Given the description of an element on the screen output the (x, y) to click on. 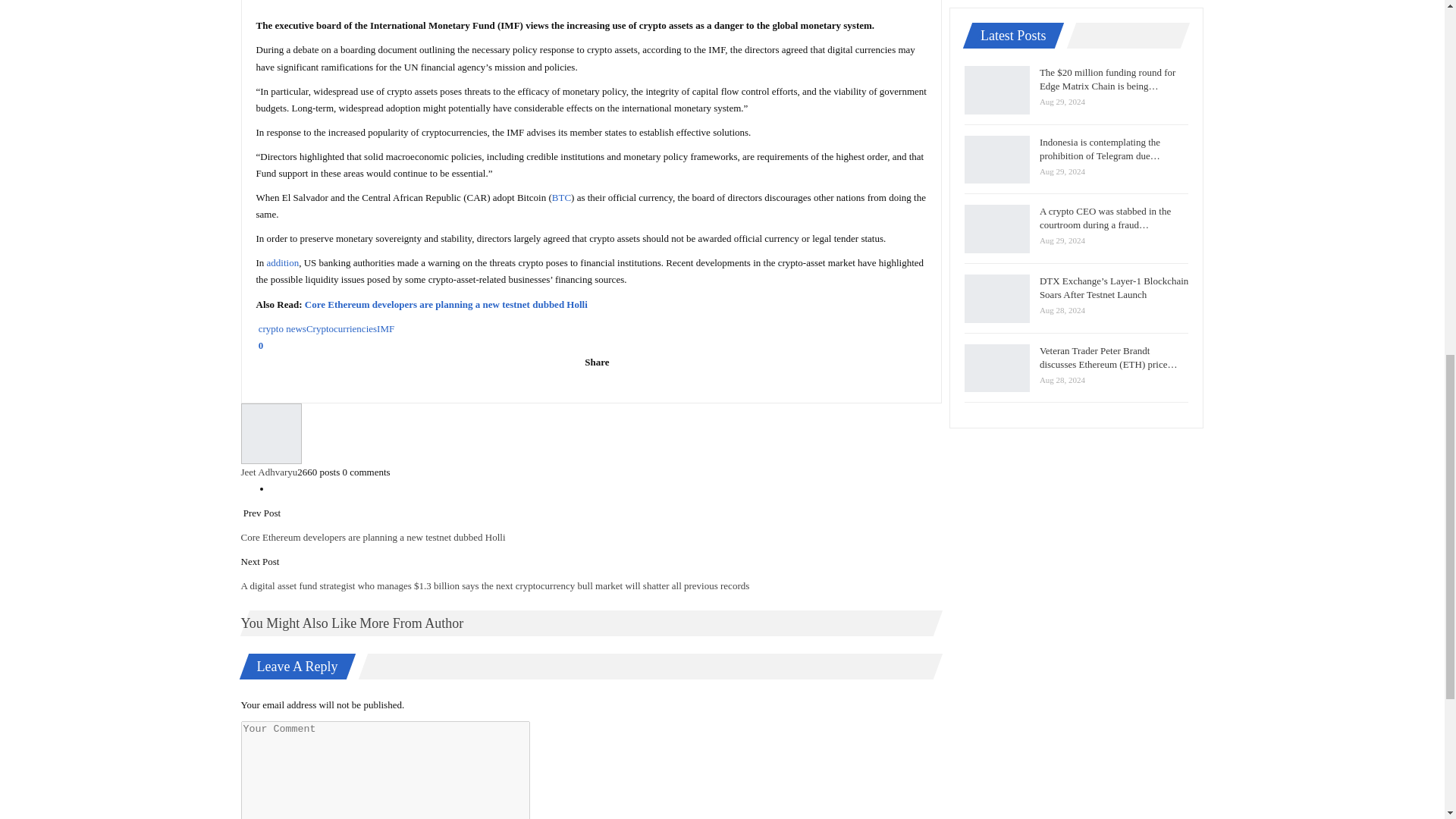
addition (282, 262)
BTC (560, 197)
Browse Author Articles (591, 433)
